Given the description of an element on the screen output the (x, y) to click on. 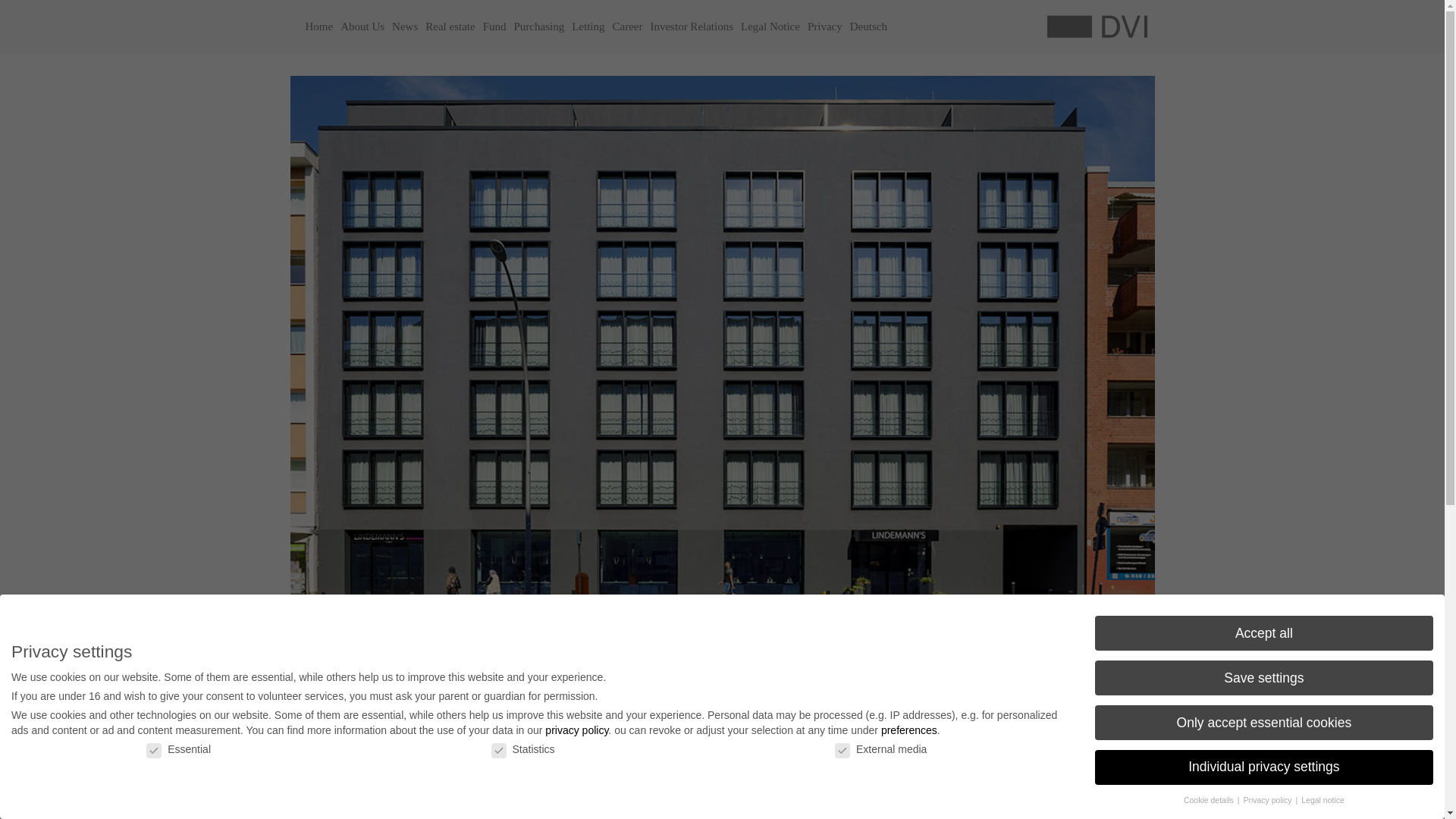
Fund (495, 26)
Purchasing (538, 26)
Privacy (824, 26)
News (405, 26)
News (405, 26)
Potsdamer Strasse (370, 663)
Deutsch (868, 26)
Real estate (450, 26)
Career (627, 26)
Potsdamer Strasse (370, 663)
